Given the description of an element on the screen output the (x, y) to click on. 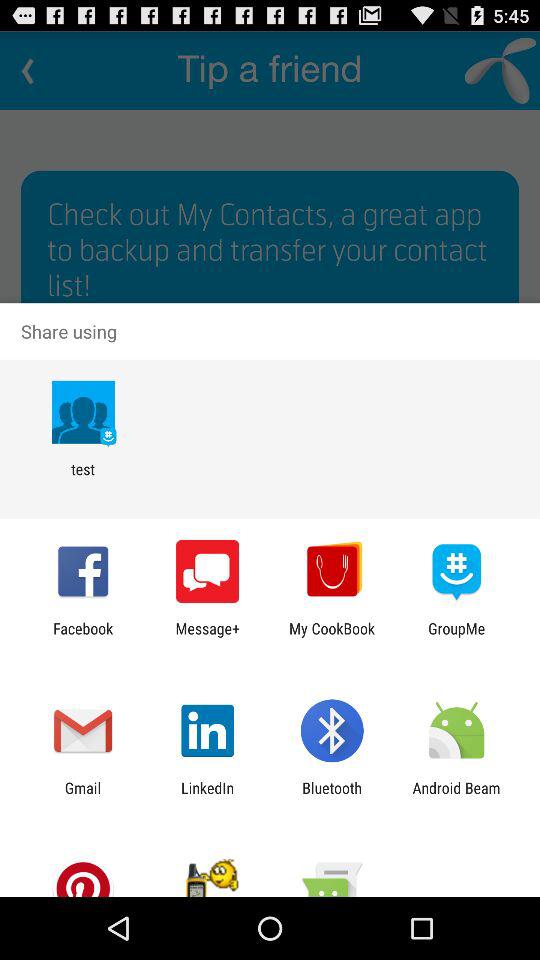
select app next to the gmail item (207, 796)
